Given the description of an element on the screen output the (x, y) to click on. 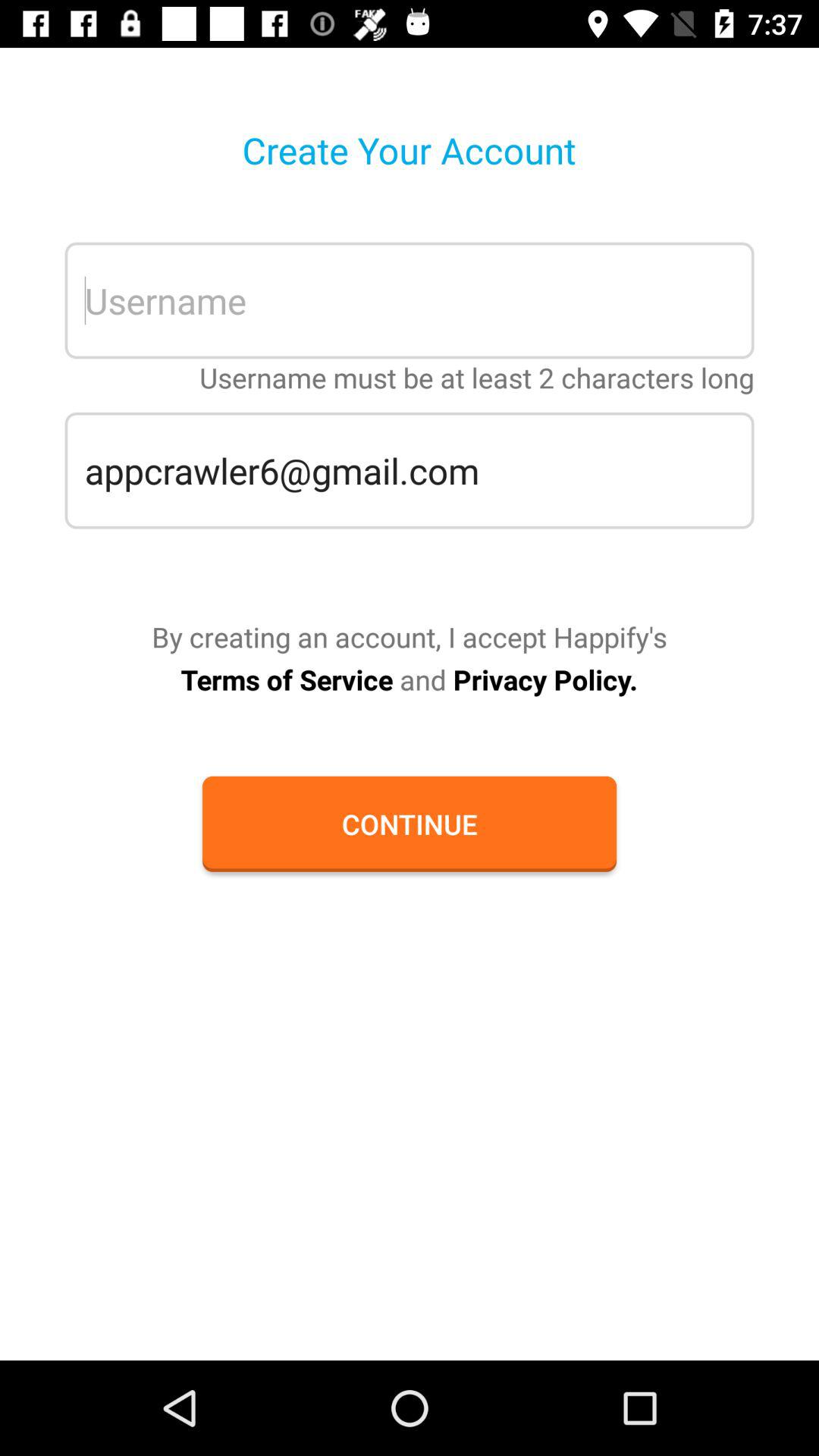
username login (409, 300)
